Given the description of an element on the screen output the (x, y) to click on. 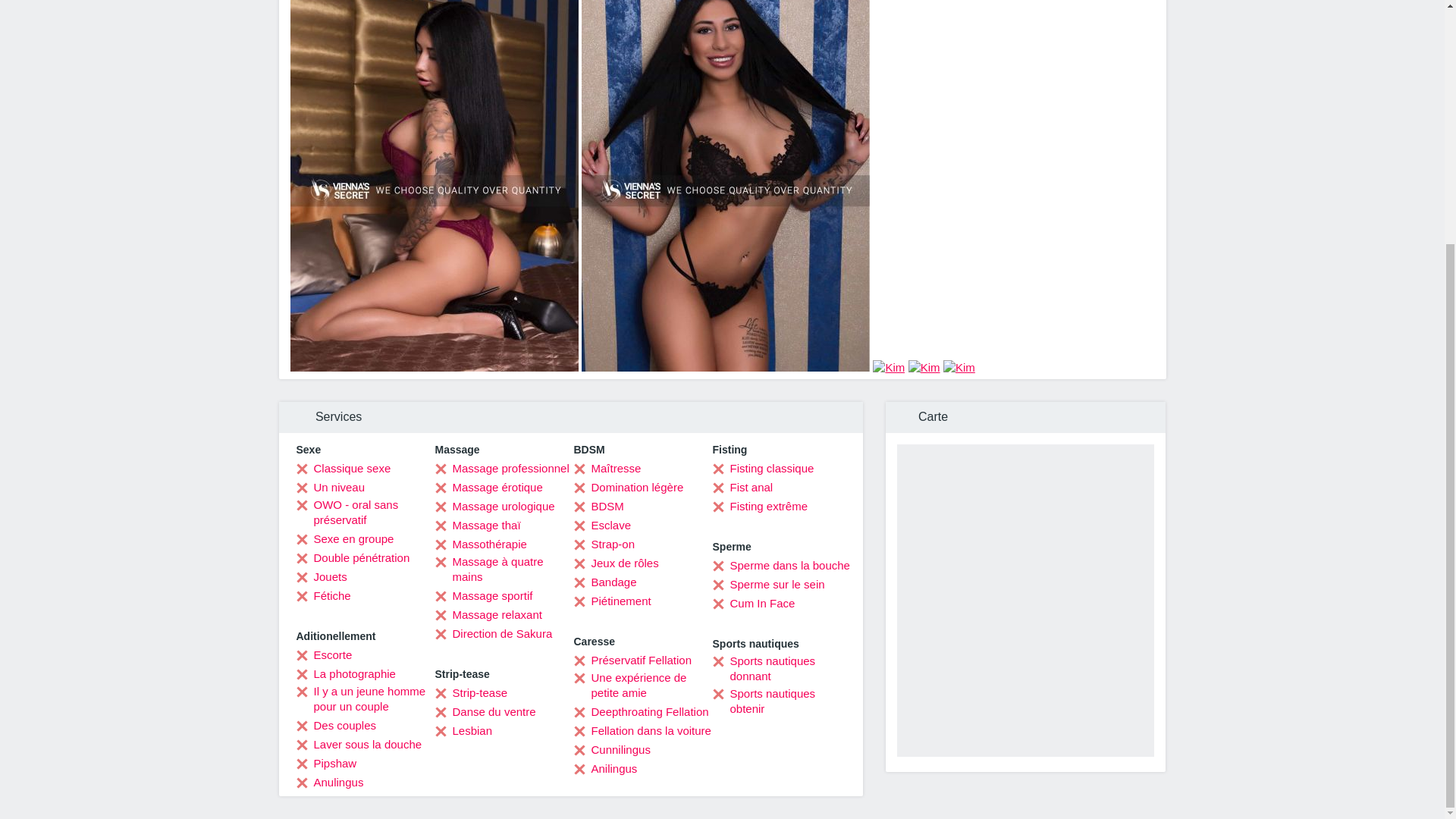
Laver sous la douche (358, 744)
Un niveau (330, 487)
Escorte (323, 654)
La photographie (344, 673)
Des couples (335, 725)
Jouets (320, 576)
Massage professionnel (502, 468)
Classique sexe (342, 468)
Sexe en groupe (344, 539)
Pipshaw (325, 763)
